Given the description of an element on the screen output the (x, y) to click on. 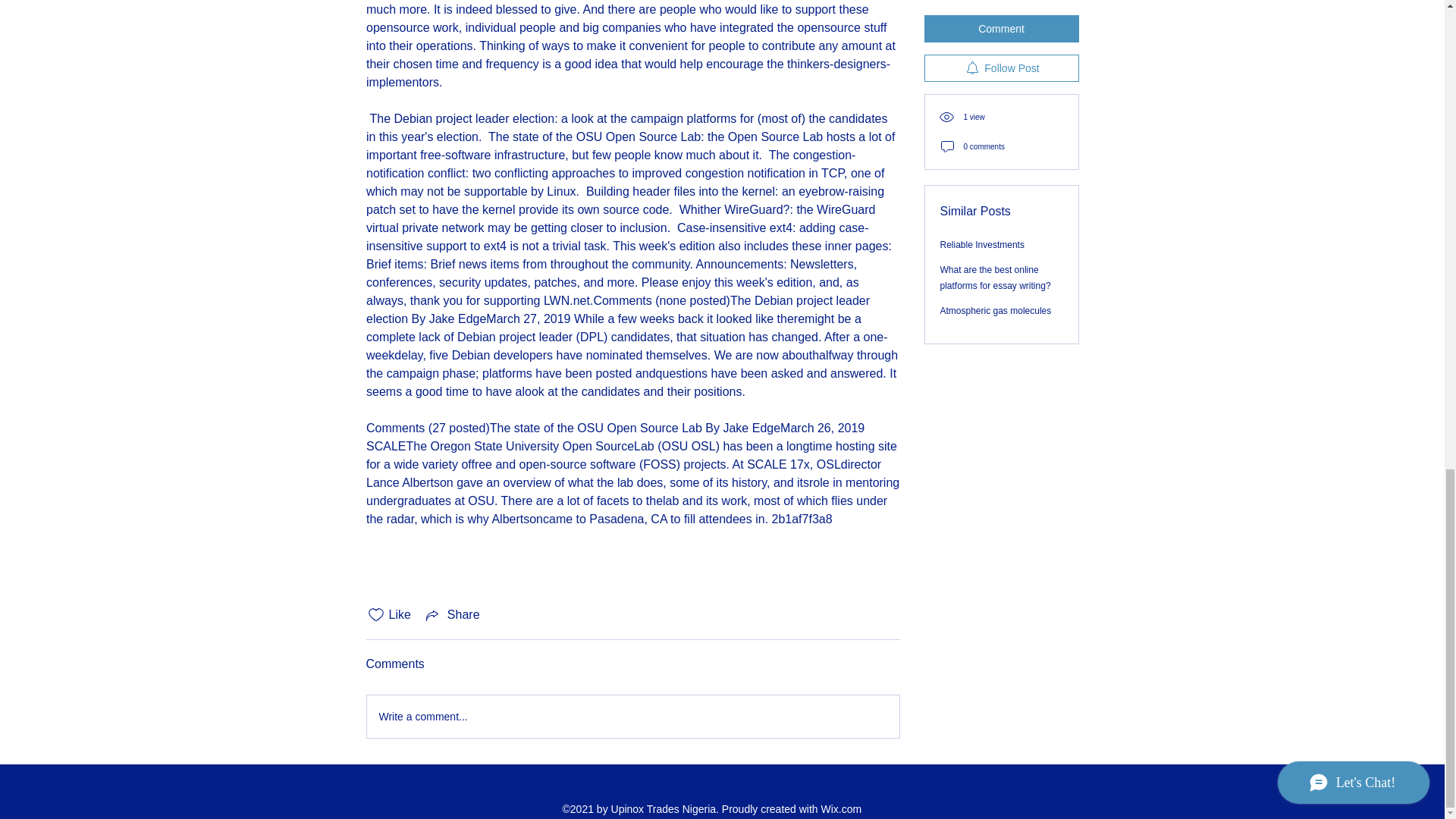
Share (451, 615)
Write a comment... (632, 716)
